Given the description of an element on the screen output the (x, y) to click on. 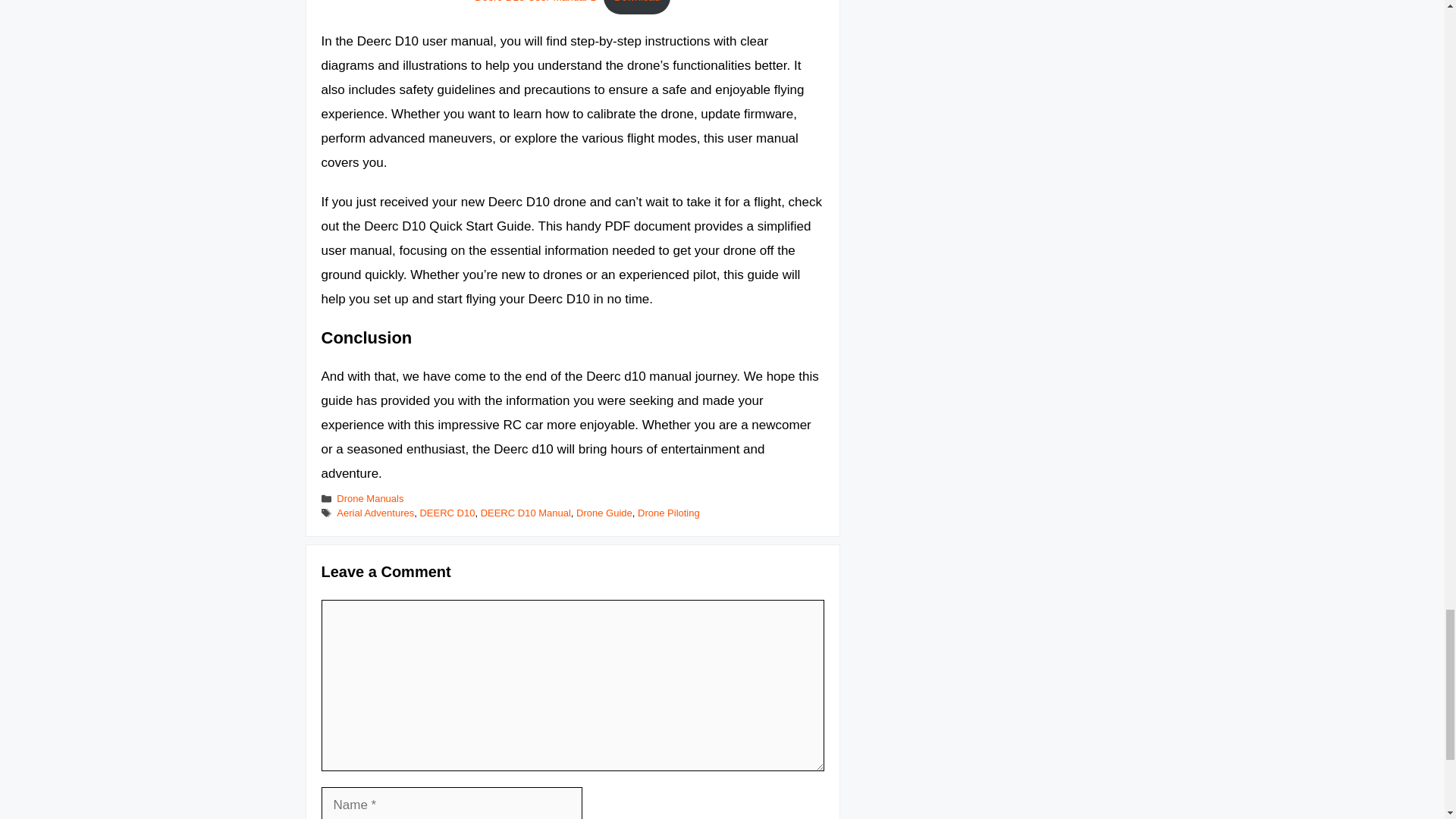
Download (636, 7)
Drone Manuals (369, 498)
Drone Guide (603, 512)
DEERC D10 Manual (525, 512)
Aerial Adventures (374, 512)
Deerc-D10-User-Manual-1 (534, 1)
DEERC D10 (446, 512)
